Given the description of an element on the screen output the (x, y) to click on. 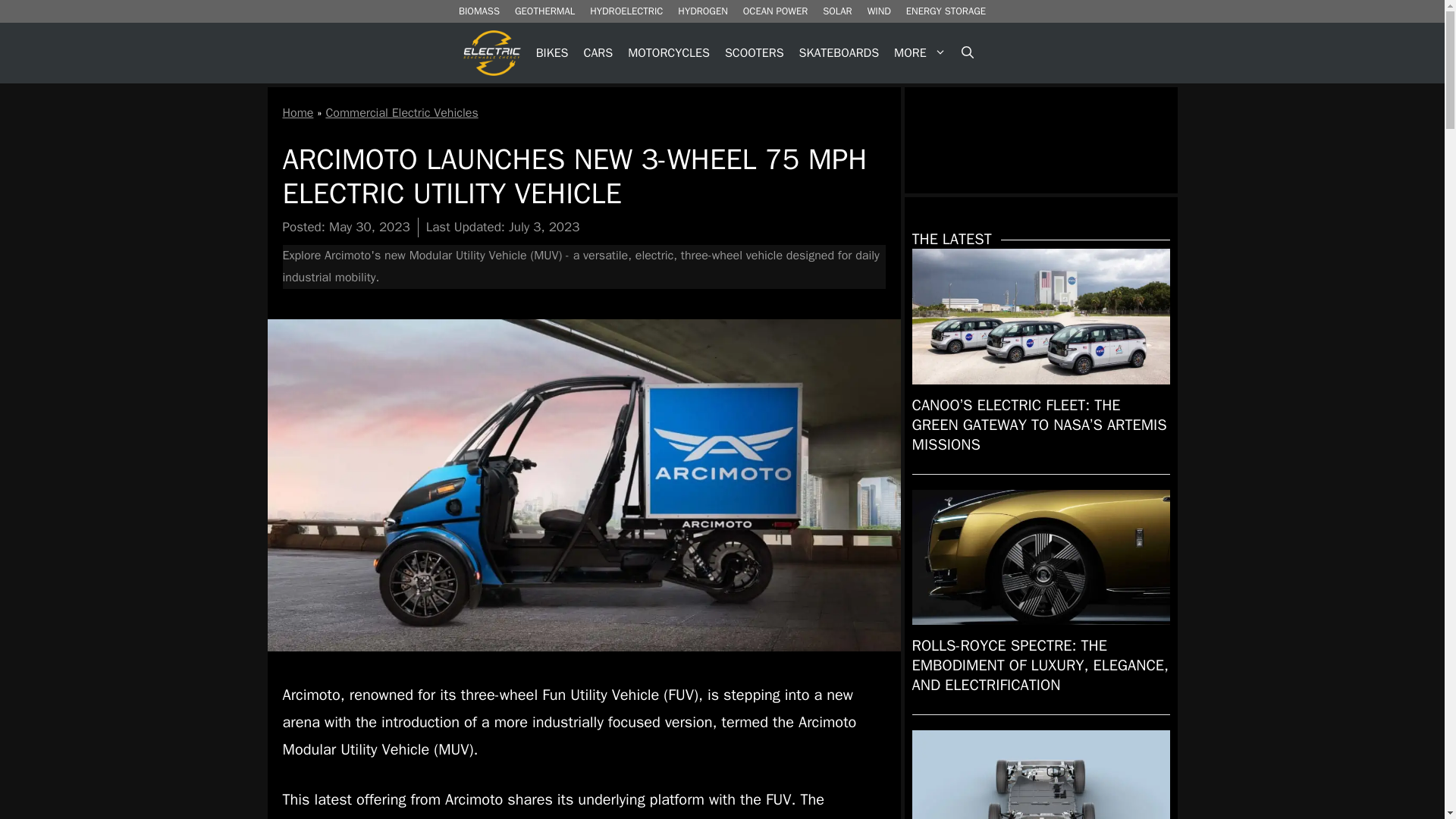
SOLAR (837, 11)
WIND (879, 11)
HYDROGEN (702, 11)
MORE (919, 52)
BIOMASS (478, 11)
SKATEBOARDS (839, 52)
MOTORCYCLES (668, 52)
SCOOTERS (754, 52)
ENERGY STORAGE (945, 11)
GEOTHERMAL (544, 11)
